Given the description of an element on the screen output the (x, y) to click on. 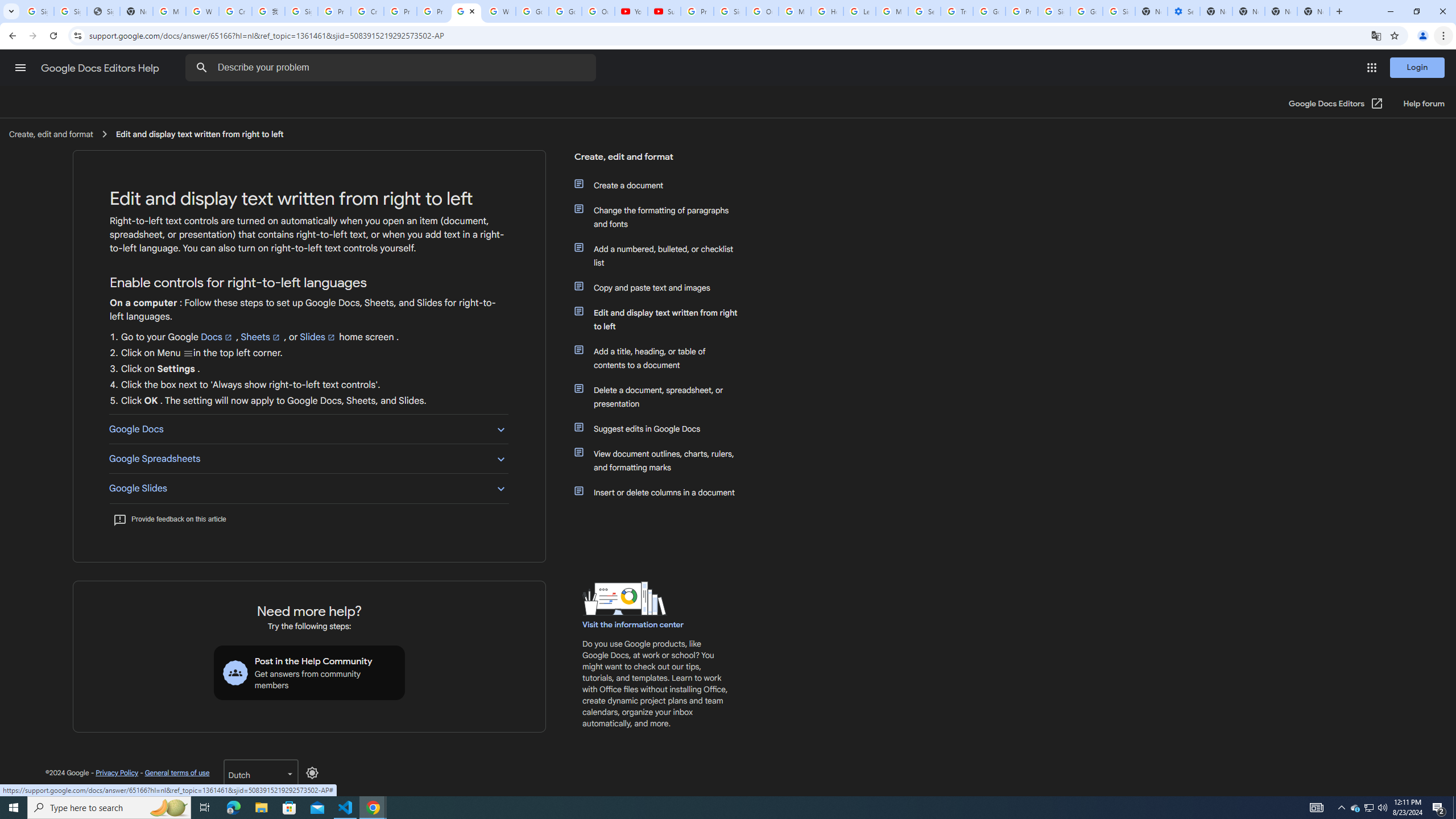
Main menu (20, 67)
Sign in - Google Accounts (1053, 11)
Google Account (564, 11)
Disable dark mode (312, 772)
Search the Help Center (201, 67)
Google Slides (308, 488)
Copy and paste text and images (661, 287)
Sign in - Google Accounts (301, 11)
Create a document (661, 185)
View document outlines, charts, rulers, and formatting marks (661, 460)
Provide feedback on this article (169, 518)
Menu (187, 353)
